Given the description of an element on the screen output the (x, y) to click on. 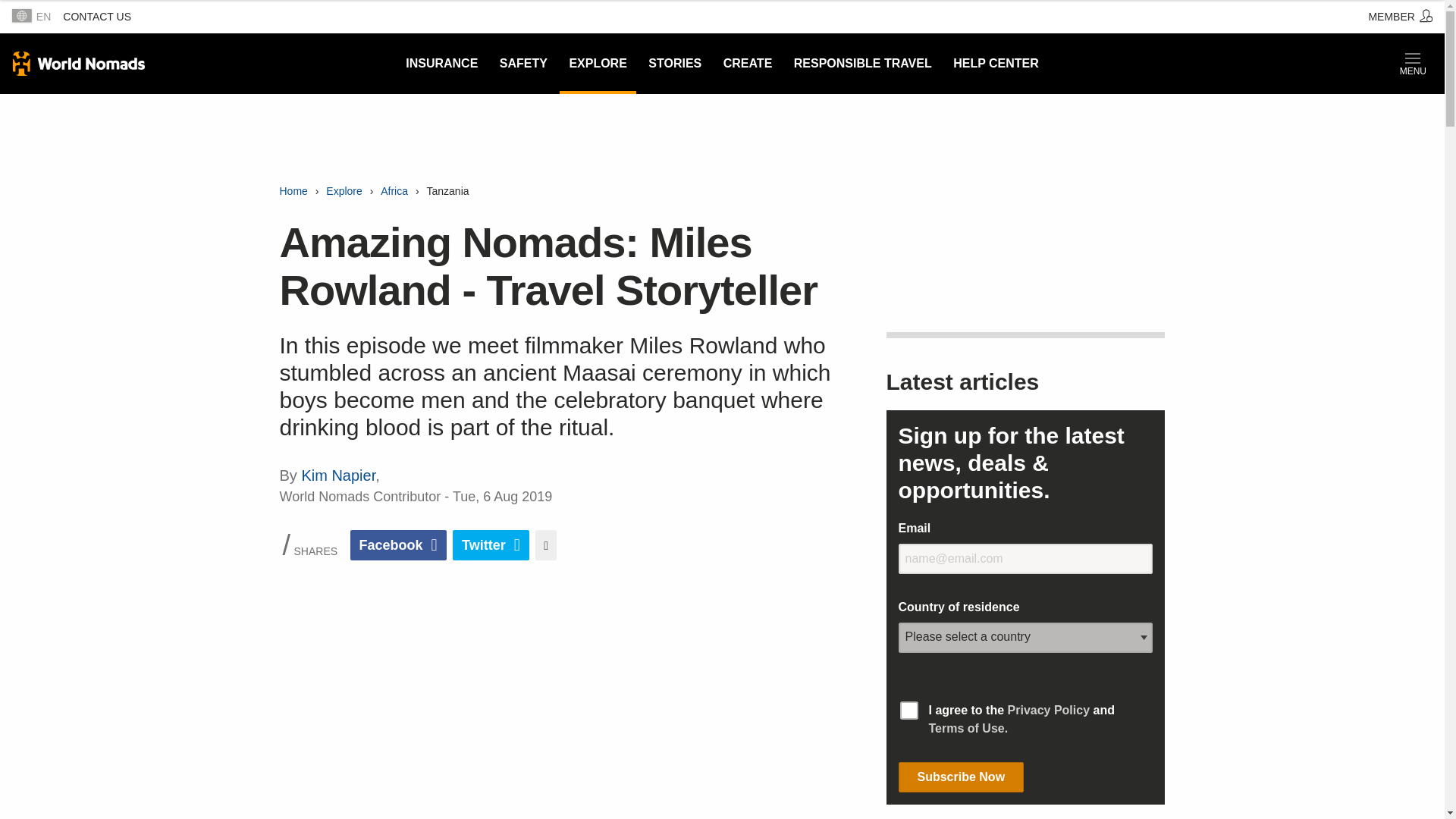
World Nomads (78, 63)
CONTACT US (96, 16)
EXPLORE (596, 63)
CREATE (747, 63)
SAFETY (523, 63)
Flag of Global (21, 15)
MEMBER (1399, 16)
RESPONSIBLE TRAVEL (862, 63)
STORIES (674, 63)
INSURANCE (441, 63)
